Given the description of an element on the screen output the (x, y) to click on. 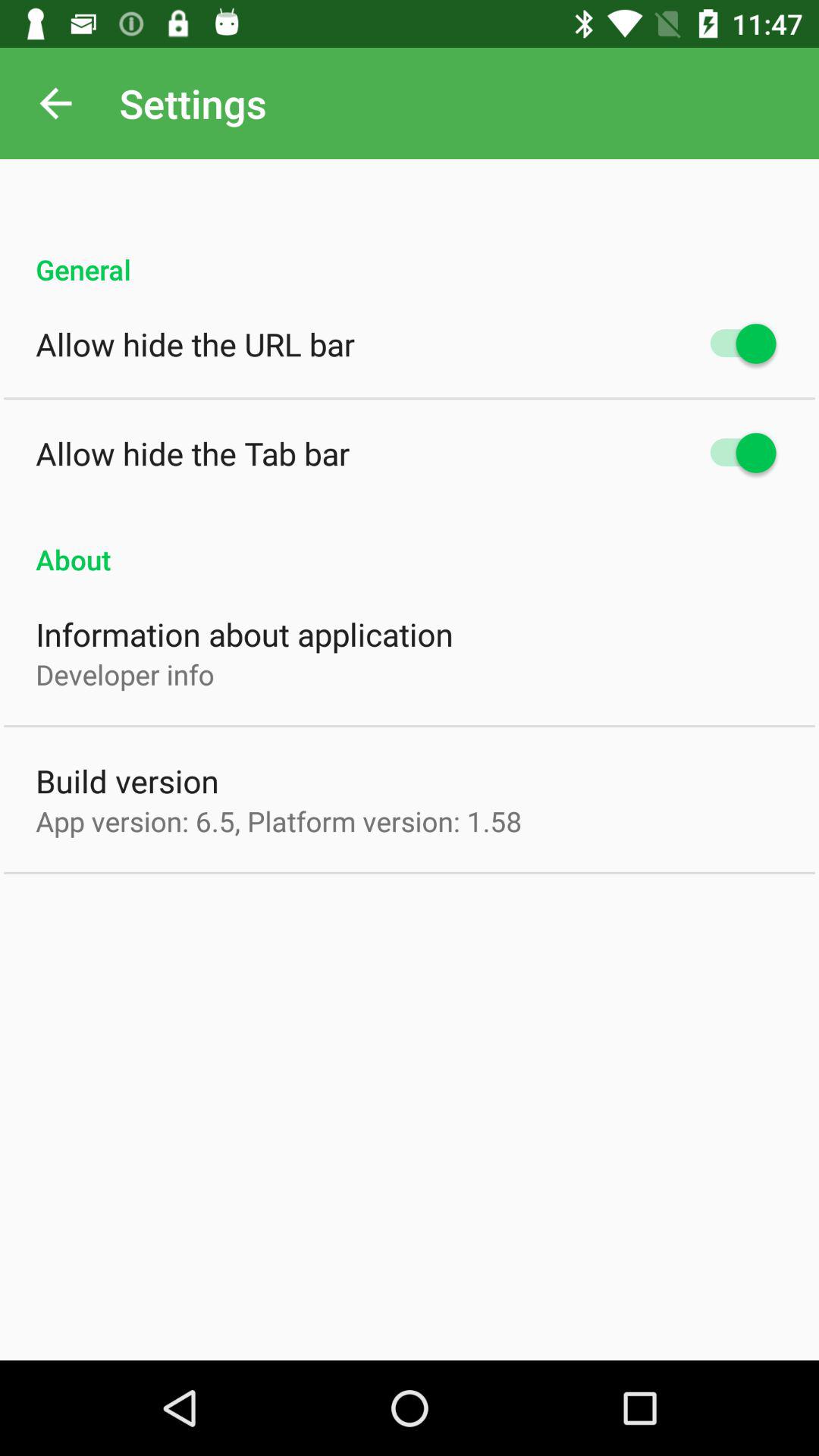
tap item above general (55, 103)
